Given the description of an element on the screen output the (x, y) to click on. 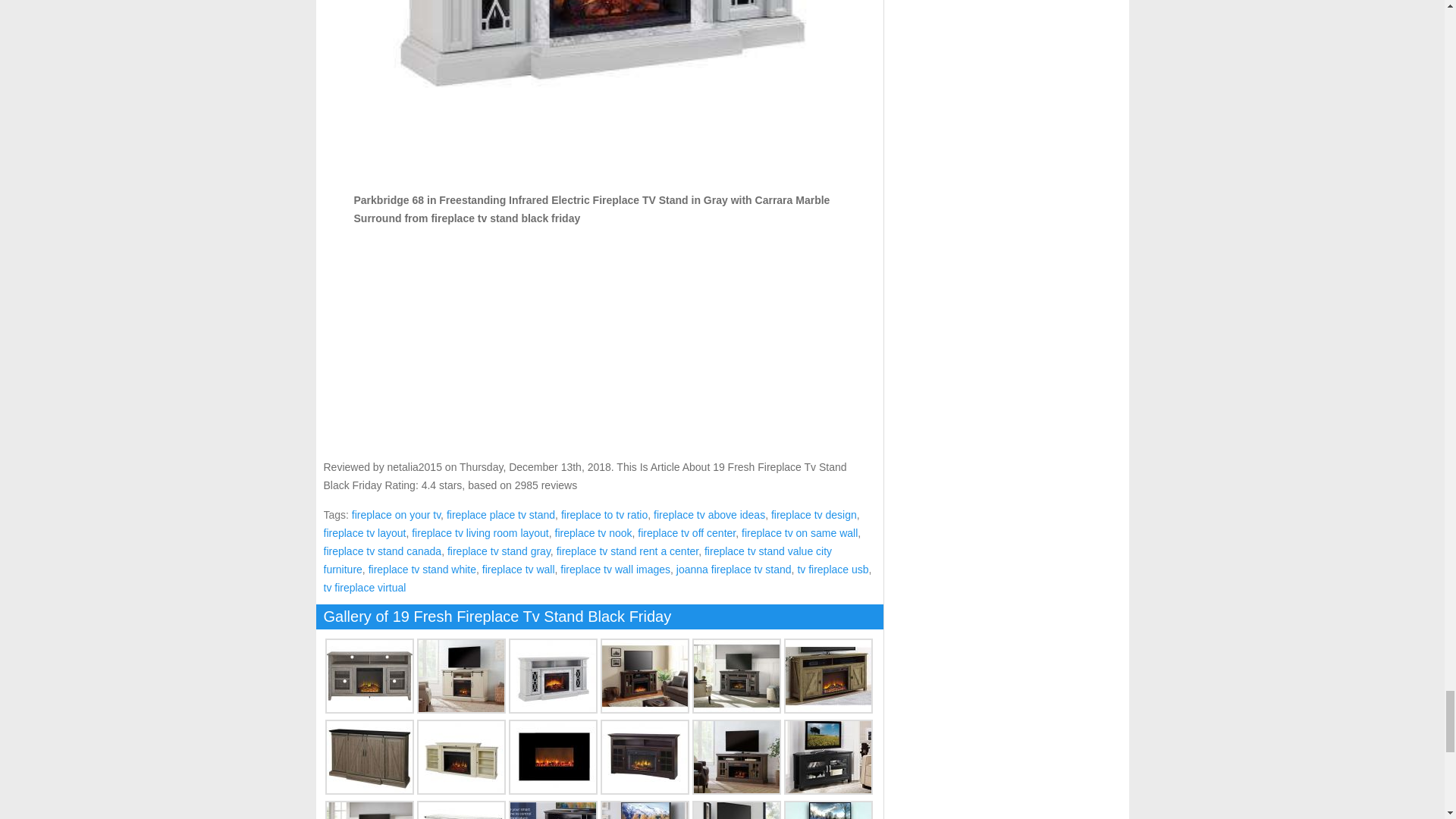
fireplace tv layout (364, 532)
fireplace tv stand gray (498, 551)
fireplace tv nook (592, 532)
fireplace tv design (814, 514)
tv fireplace usb (831, 569)
fireplace on your tv (396, 514)
fireplace tv wall (517, 569)
fireplace tv stand rent a center (627, 551)
tv fireplace virtual (364, 587)
fireplace tv stand white (422, 569)
fireplace tv stand value city furniture (577, 560)
fireplace tv off center (686, 532)
fireplace tv living room layout (480, 532)
fireplace to tv ratio (603, 514)
fireplace tv on same wall (799, 532)
